Given the description of an element on the screen output the (x, y) to click on. 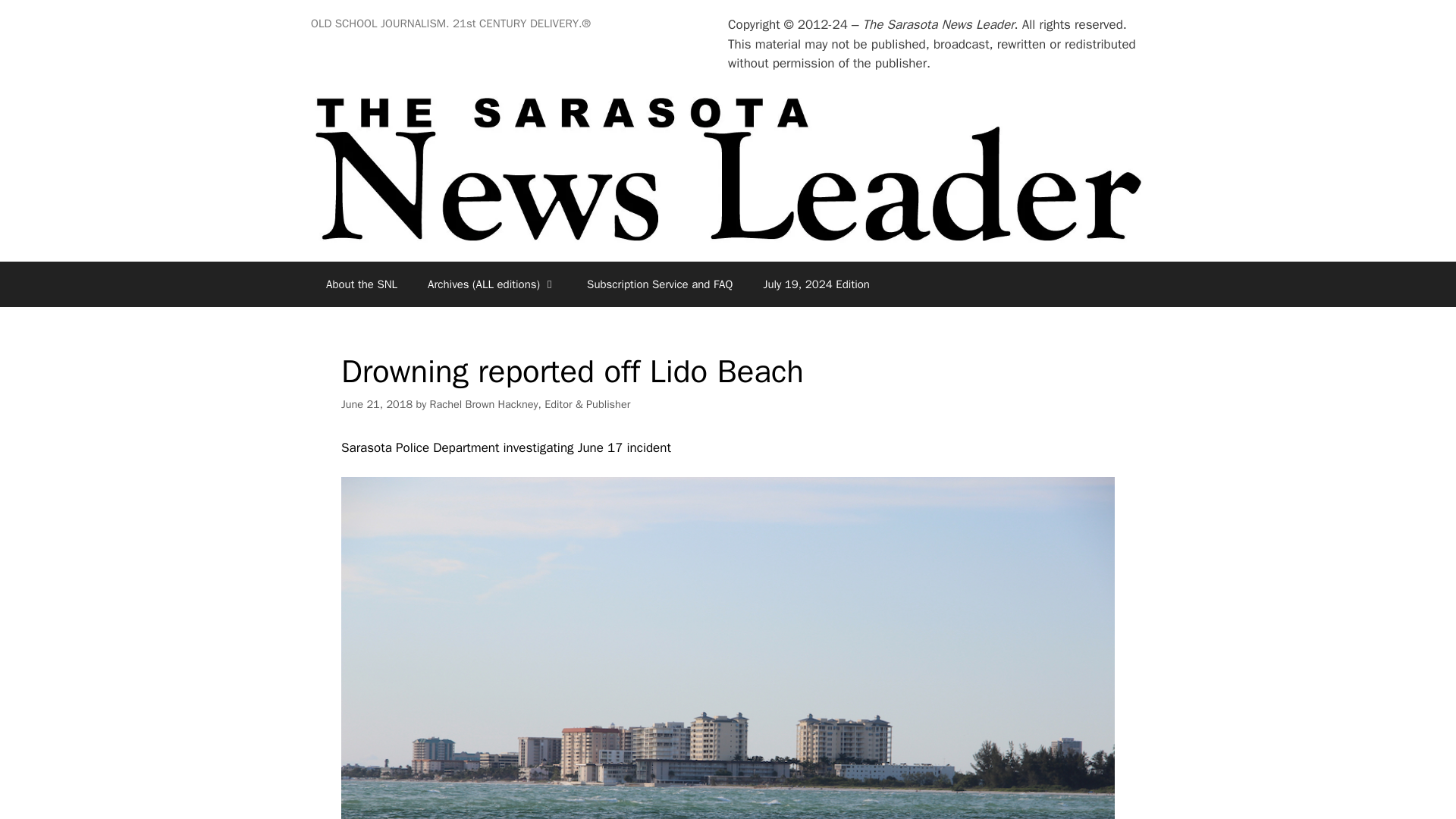
About the SNL (361, 284)
